Given the description of an element on the screen output the (x, y) to click on. 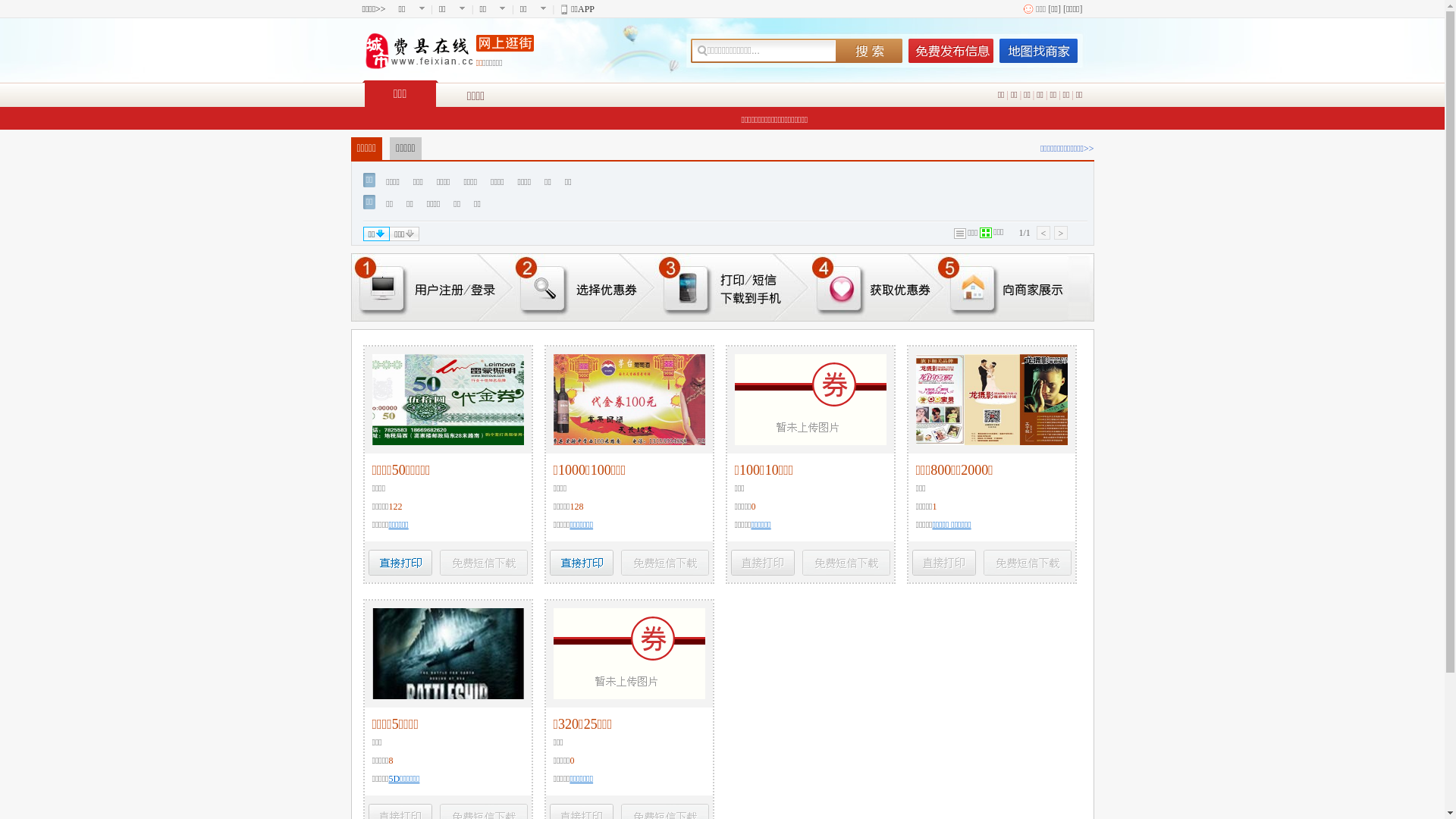
  Element type: text (867, 50)
